Given the description of an element on the screen output the (x, y) to click on. 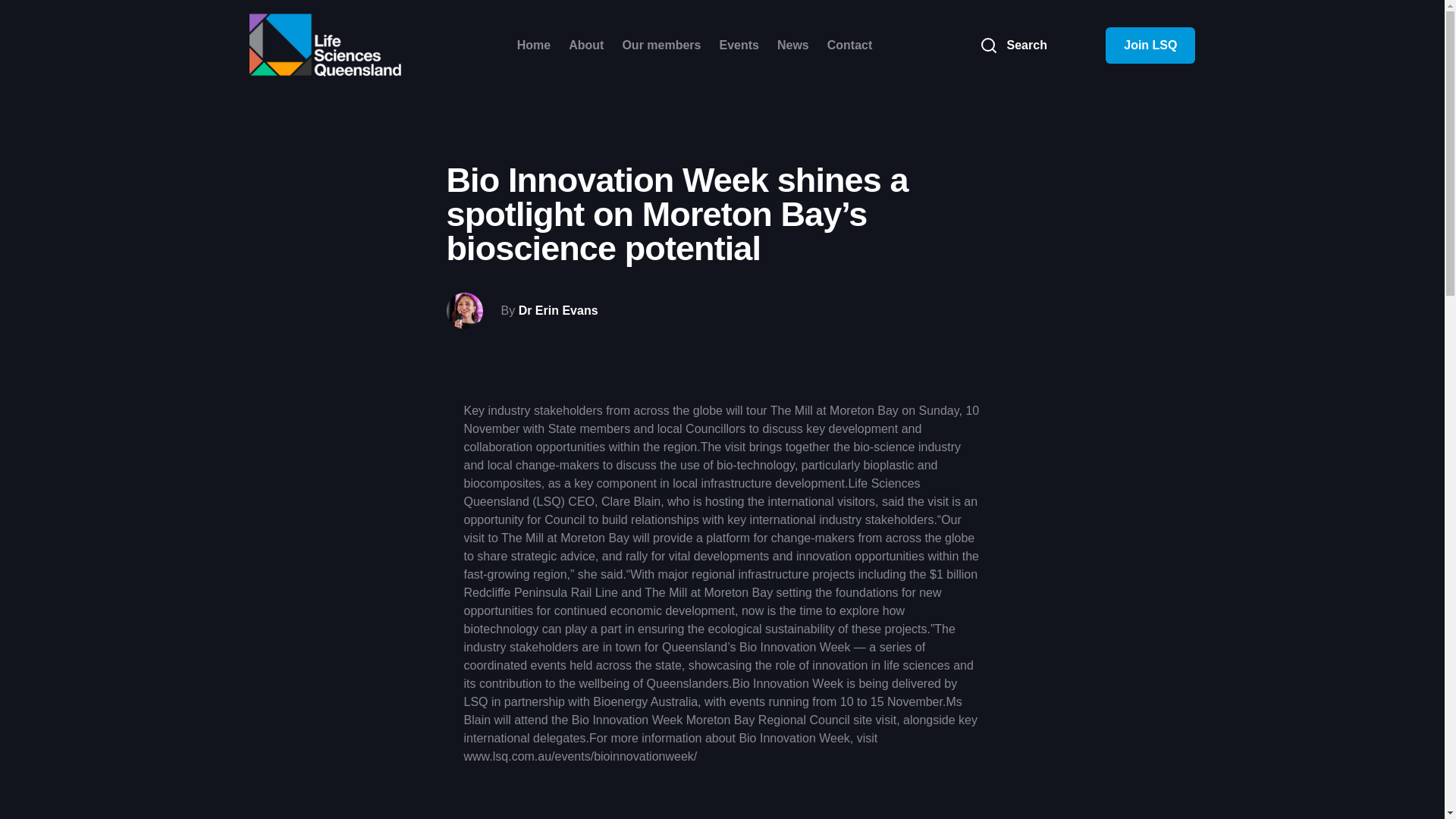
Our members Element type: text (660, 45)
About Element type: text (585, 45)
Contact Element type: text (849, 45)
Home Element type: text (533, 45)
News Element type: text (793, 45)
Join LSQ Element type: text (1150, 45)
Events Element type: text (738, 45)
Dr Erin Evans Element type: text (558, 310)
Search             Element type: text (1038, 45)
